Given the description of an element on the screen output the (x, y) to click on. 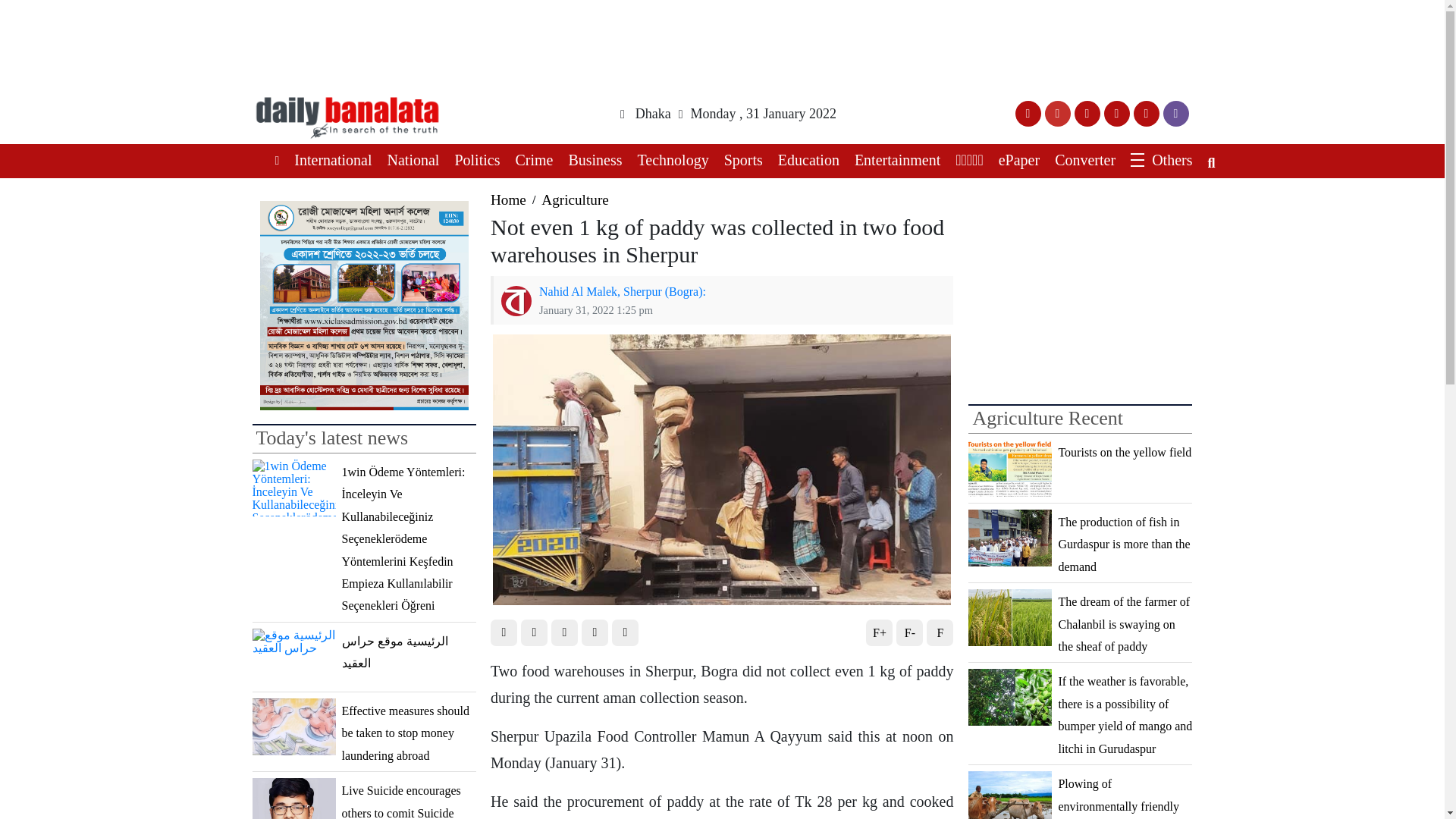
Advertisement (1080, 295)
Crime (529, 160)
Education (805, 160)
Converter (1080, 160)
Sports (739, 160)
Entertainment (893, 160)
National (409, 160)
Business (590, 160)
Politics (472, 160)
International (328, 160)
Technology (669, 160)
Advertisement (722, 41)
ePaper (1015, 160)
